Given the description of an element on the screen output the (x, y) to click on. 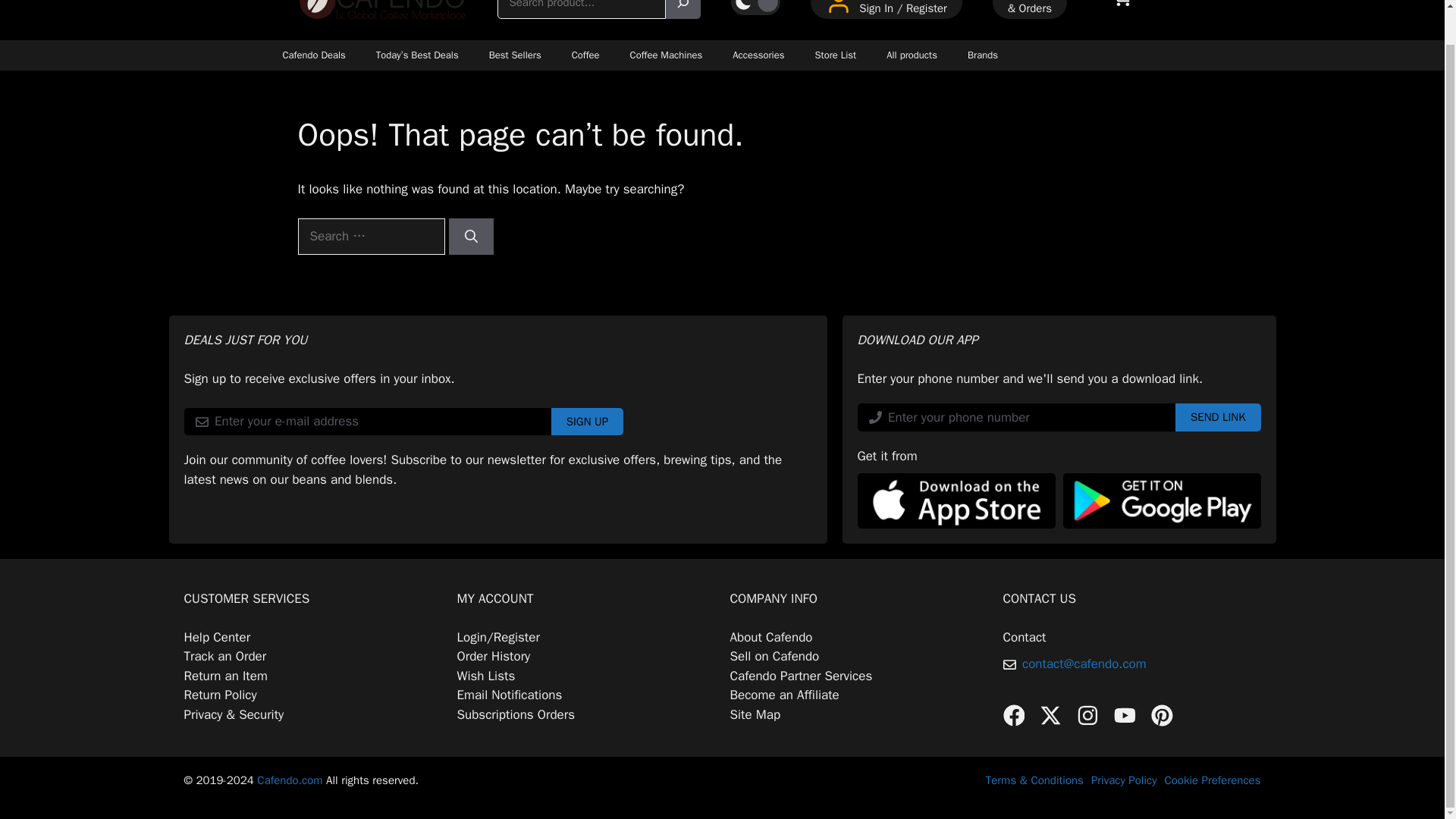
Google Play (1161, 500)
Accessories (758, 55)
Brands (982, 55)
Store List (834, 55)
Privacy Policy (1123, 780)
Cafendo Deals (312, 55)
Best Sellers (515, 55)
App Store (955, 500)
View your shopping cart (1122, 12)
Coffee (585, 55)
